Given the description of an element on the screen output the (x, y) to click on. 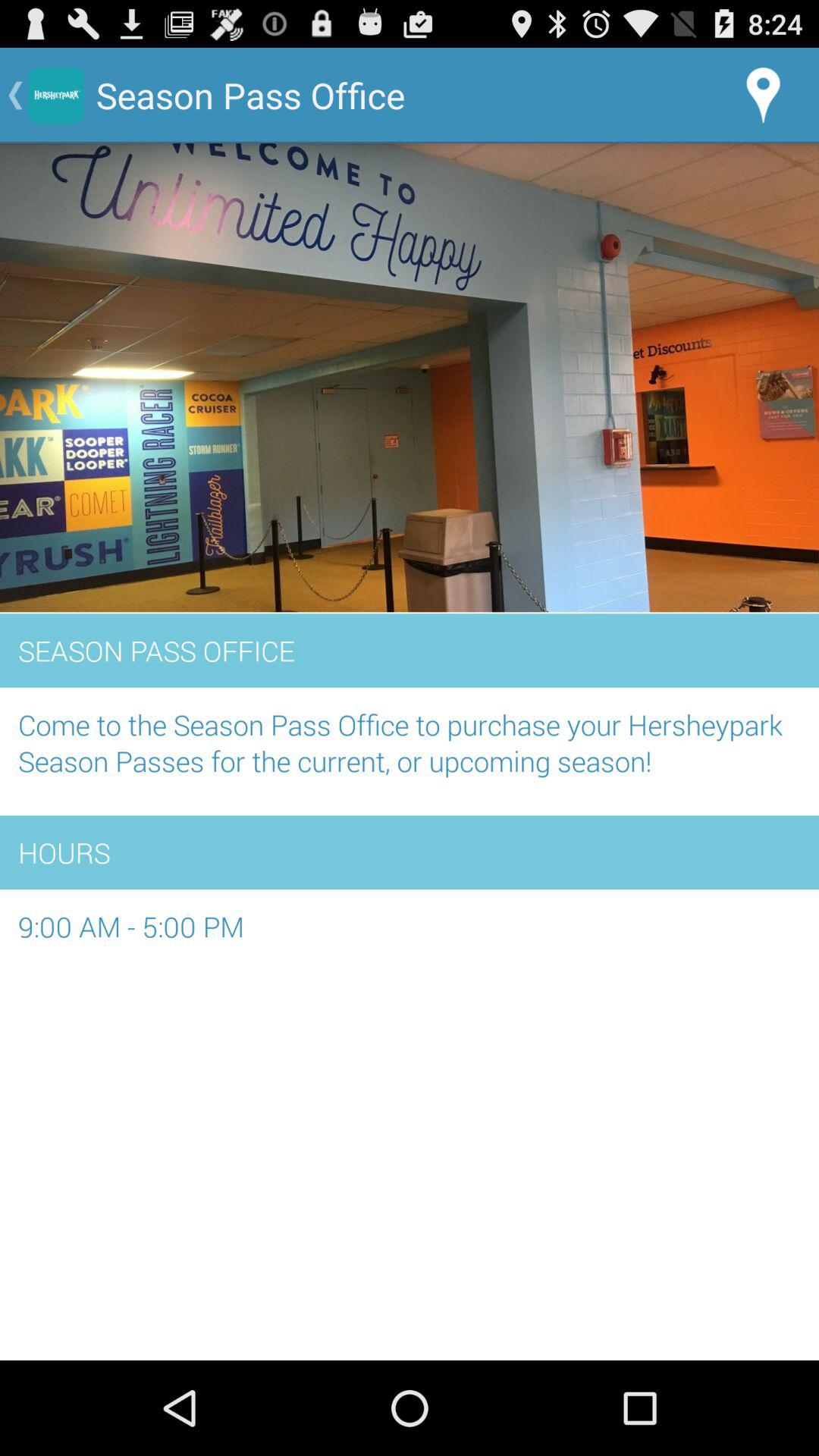
select the come to the item (409, 751)
